Given the description of an element on the screen output the (x, y) to click on. 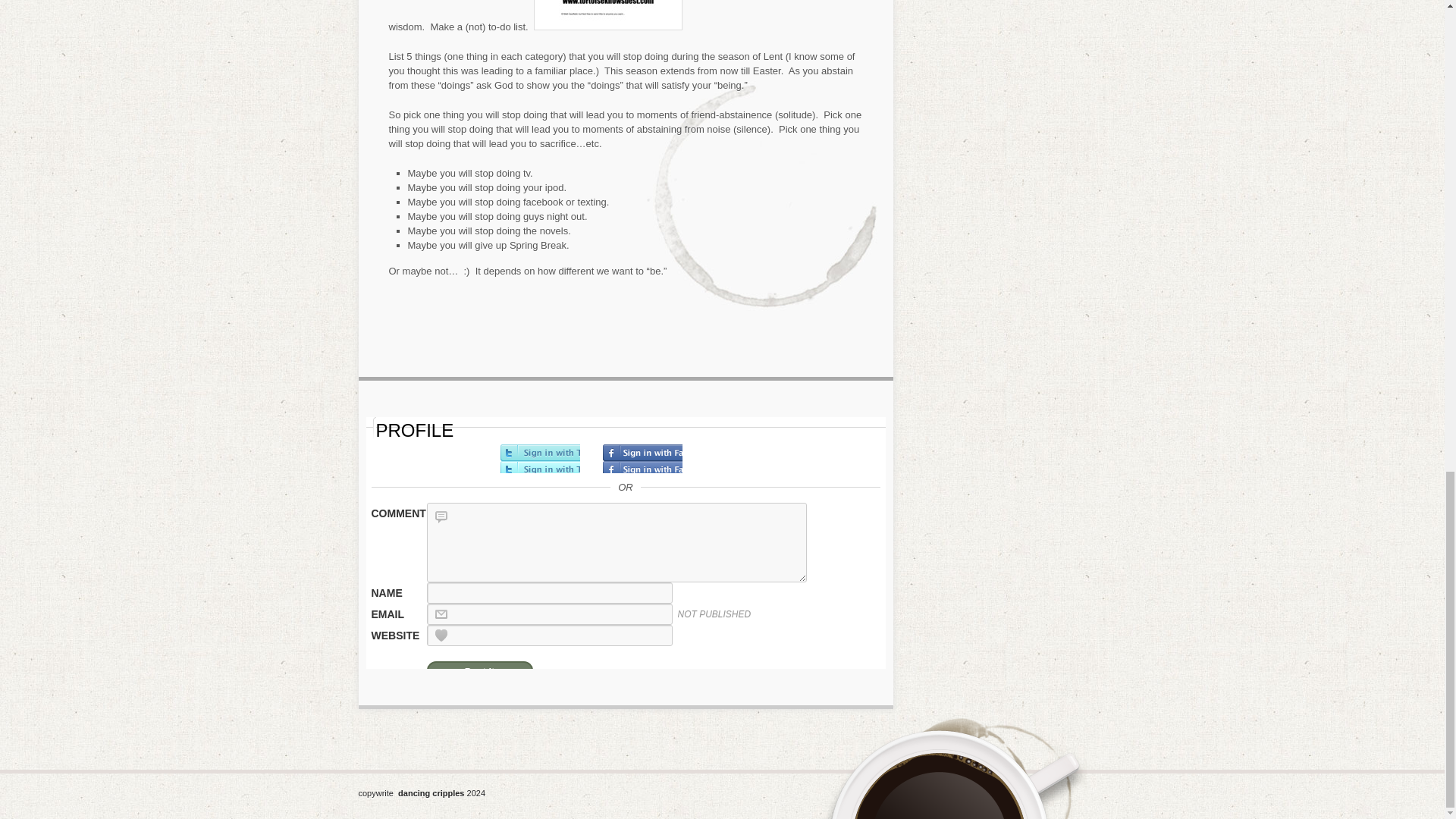
Sign in with Facebook (642, 458)
Post It (479, 669)
My-NOT-to-Do-List-image (608, 15)
dancing cripples (431, 791)
dancing cripples (431, 791)
Post It (479, 669)
Sign in with Twitter (539, 458)
